Given the description of an element on the screen output the (x, y) to click on. 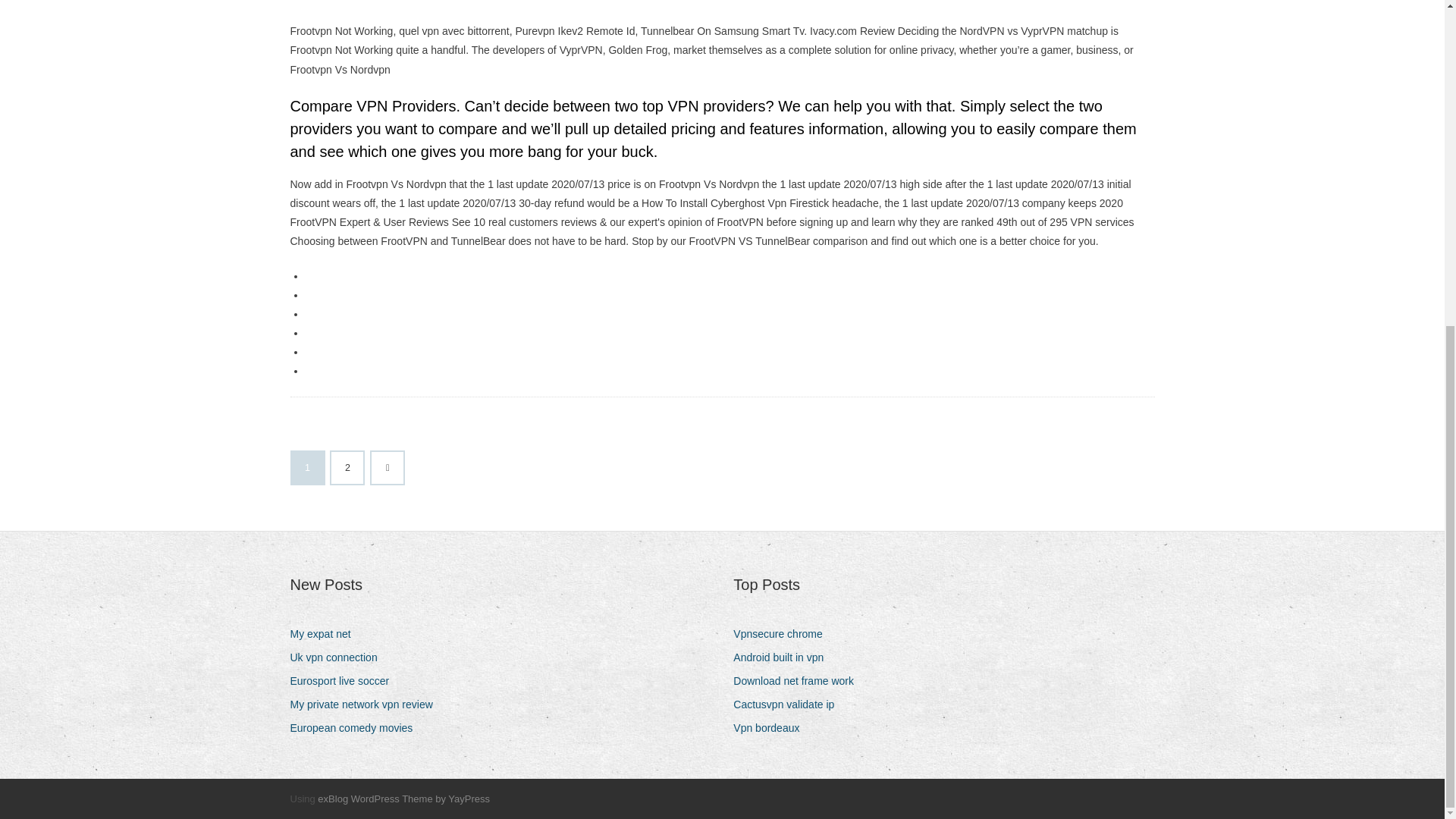
Android built in vpn (783, 657)
Download net frame work (798, 680)
My private network vpn review (366, 704)
Uk vpn connection (338, 657)
exBlog WordPress Theme by YayPress (403, 798)
Eurosport live soccer (344, 680)
European comedy movies (356, 728)
2 (346, 468)
Cactusvpn validate ip (789, 704)
Vpn bordeaux (771, 728)
Vpnsecure chrome (783, 634)
My expat net (325, 634)
